Given the description of an element on the screen output the (x, y) to click on. 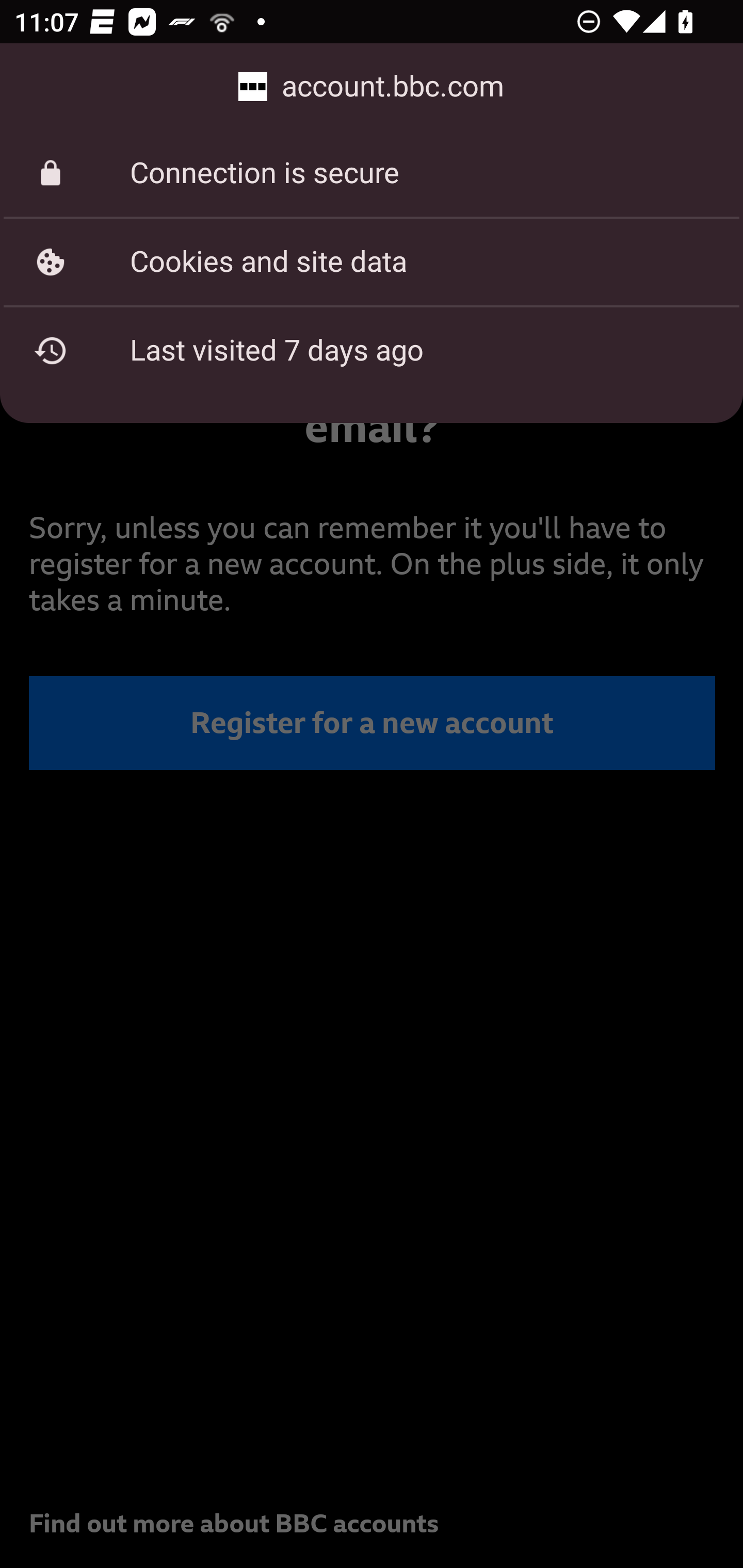
account.bbc.com (371, 86)
Connection is secure (371, 173)
Cookies and site data (371, 261)
Last visited 7 days ago (371, 350)
